Given the description of an element on the screen output the (x, y) to click on. 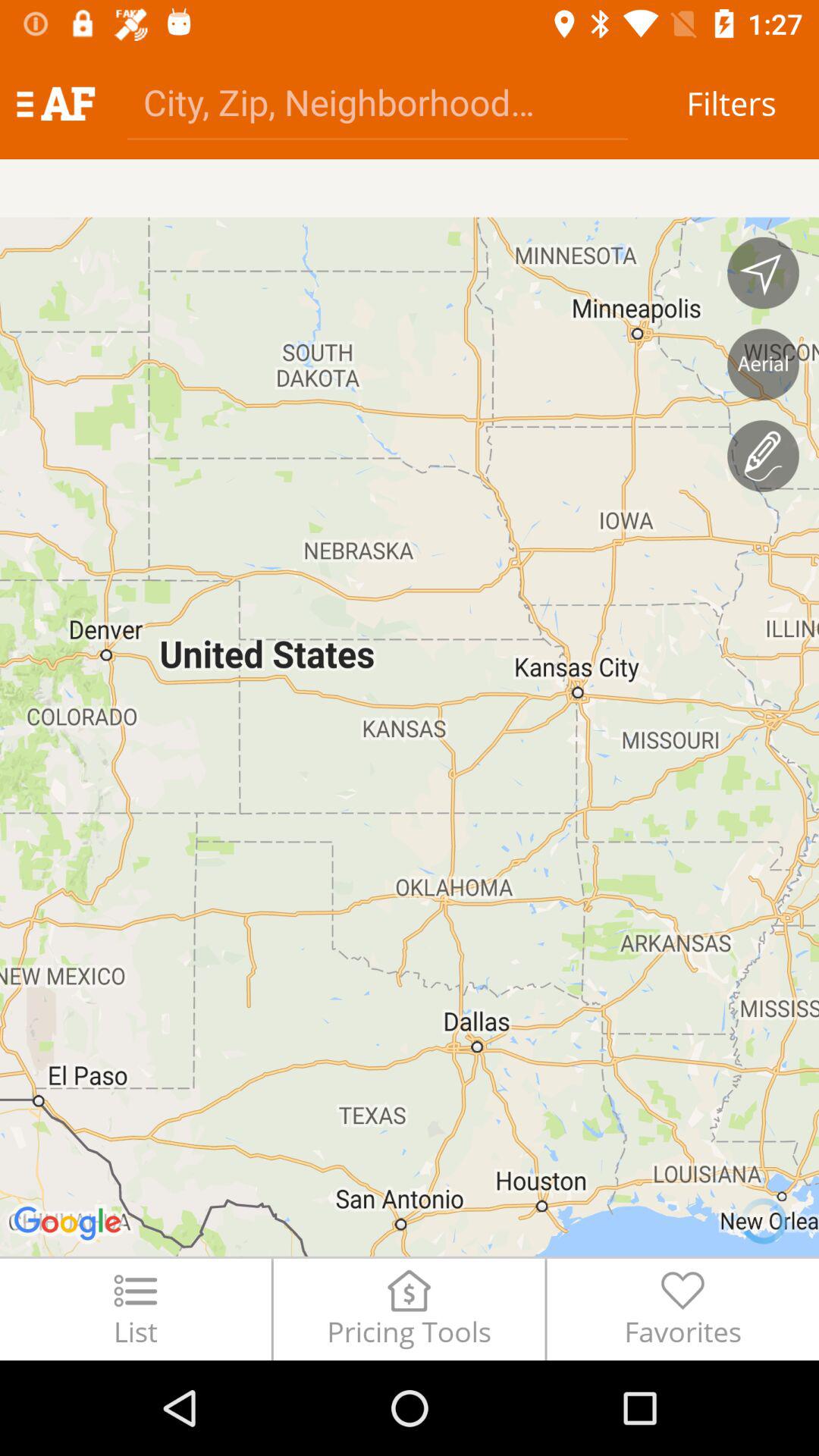
navigation (763, 272)
